Given the description of an element on the screen output the (x, y) to click on. 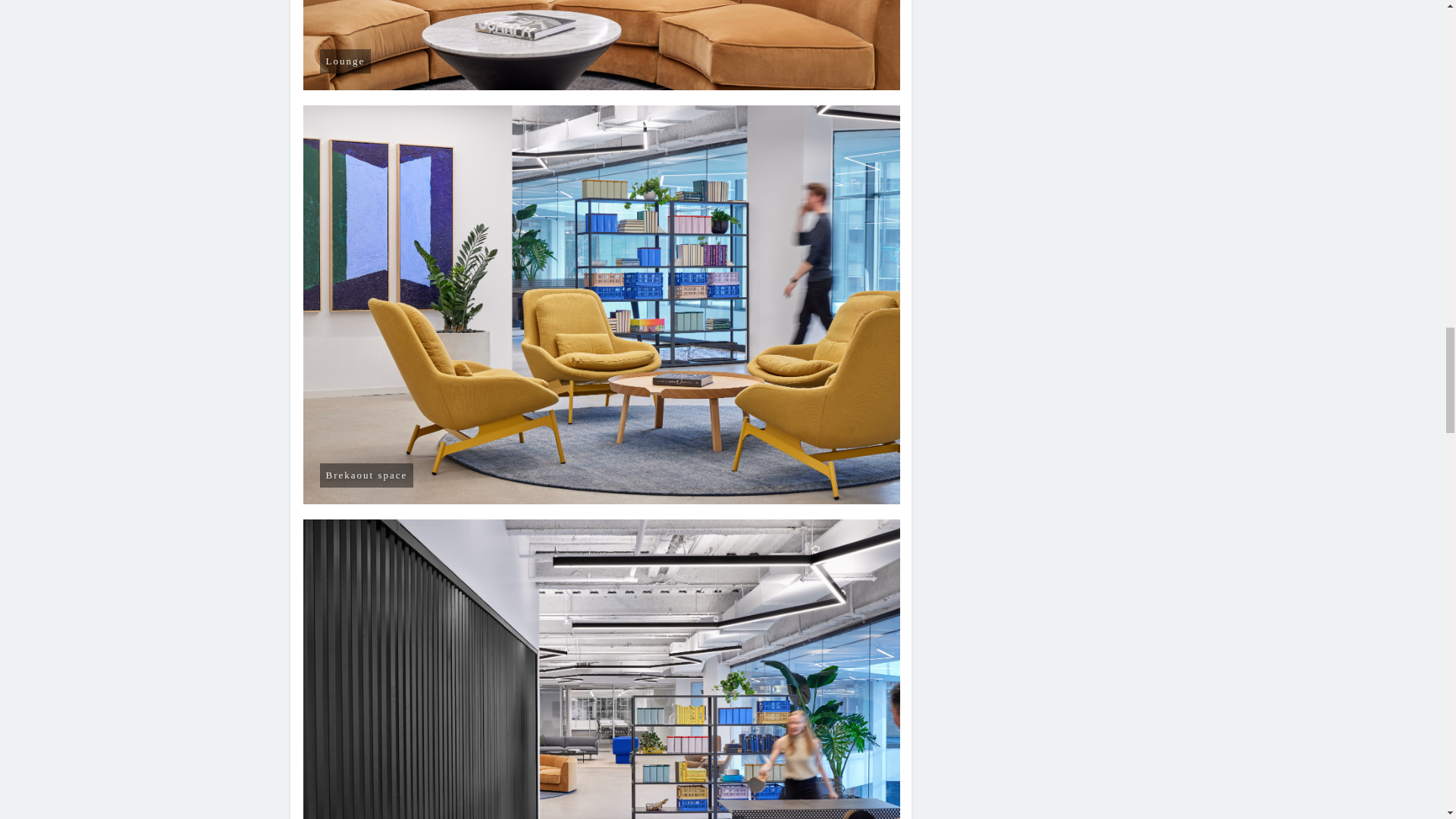
Lounge (601, 45)
